Given the description of an element on the screen output the (x, y) to click on. 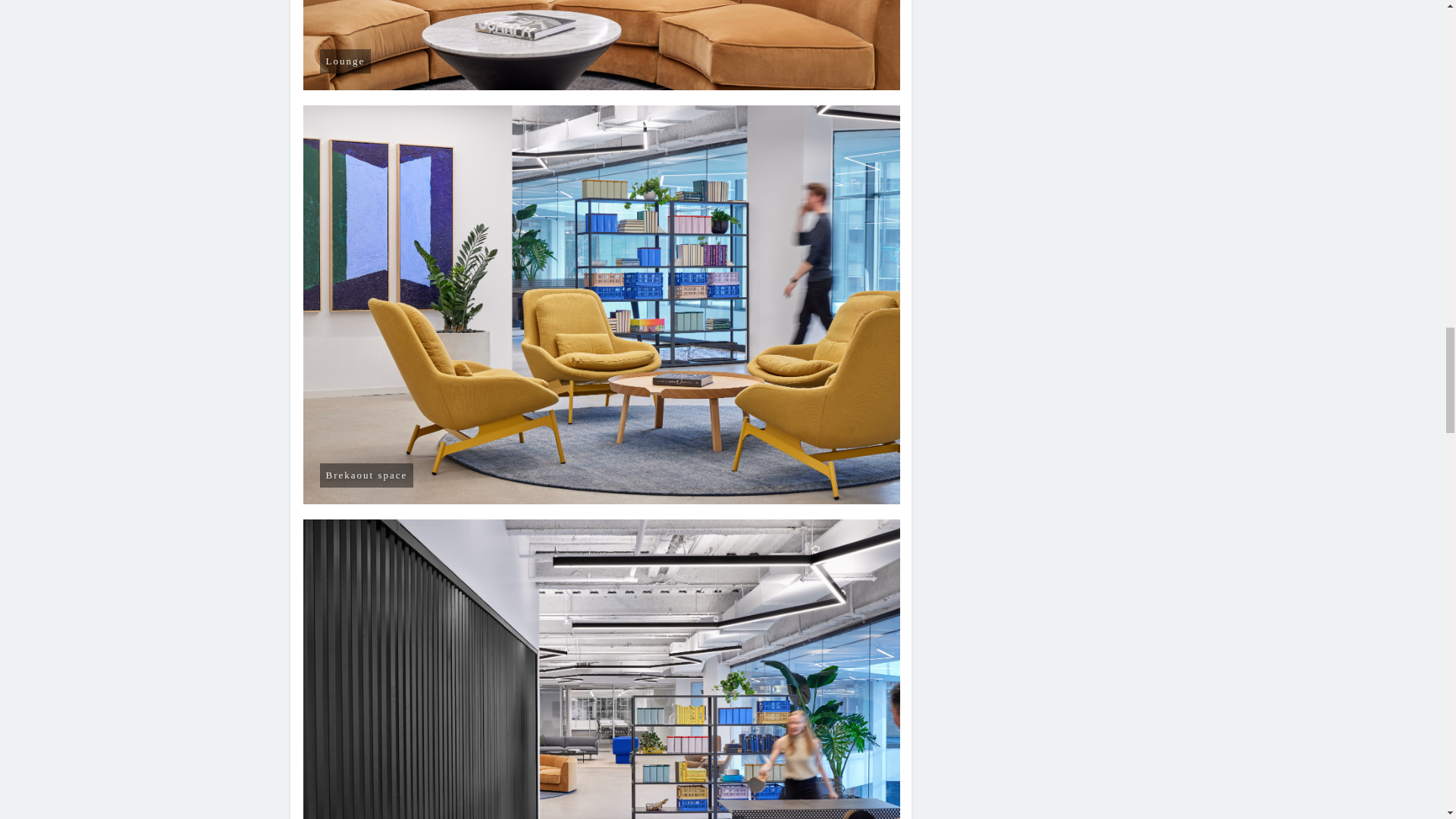
Lounge (601, 45)
